Given the description of an element on the screen output the (x, y) to click on. 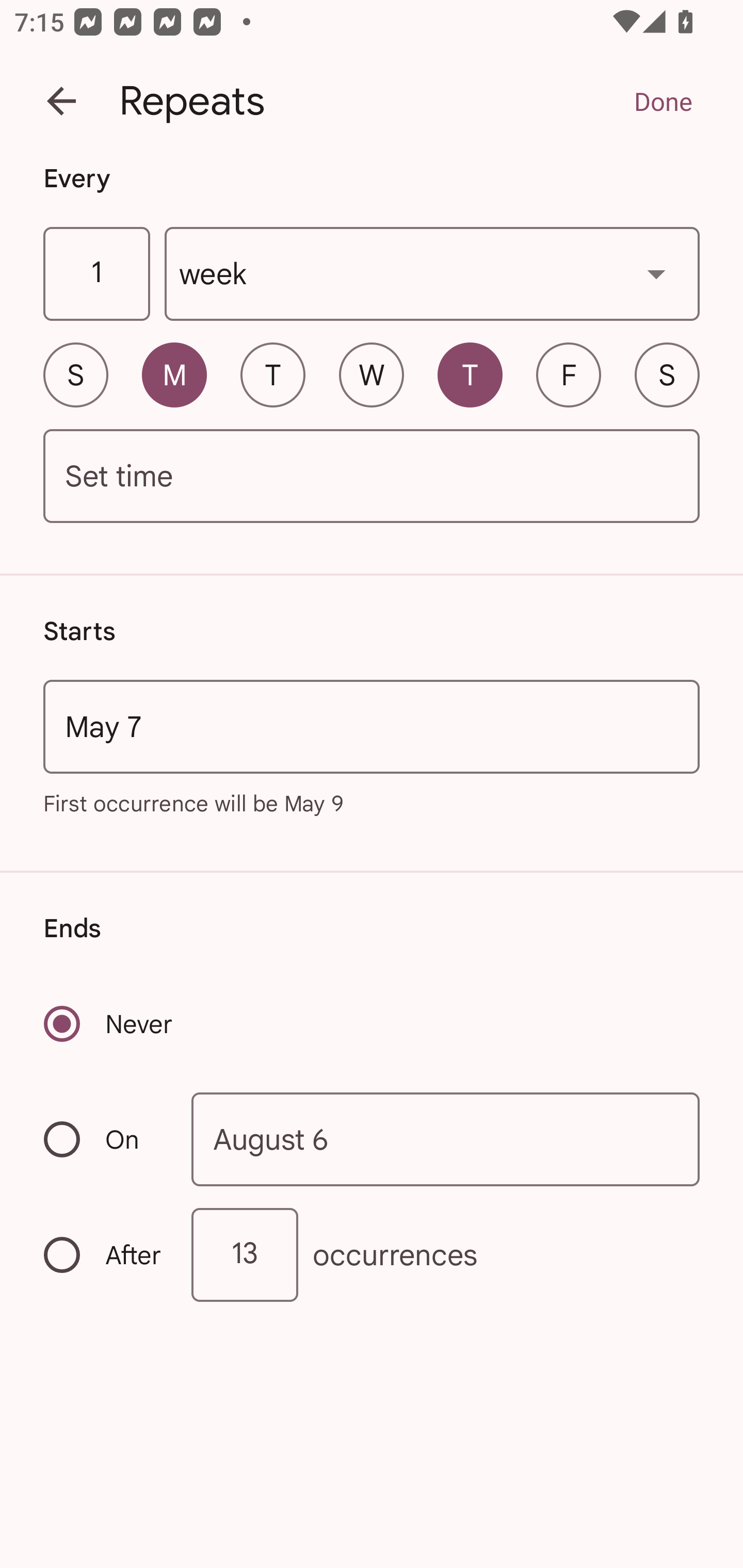
Back (61, 101)
Done (663, 101)
1 (96, 274)
week (431, 274)
Show dropdown menu (655, 273)
S Sunday (75, 374)
M Monday, selected (173, 374)
T Tuesday (272, 374)
W Wednesday (371, 374)
T Thursday, selected (469, 374)
F Friday (568, 374)
S Saturday (666, 374)
Set time (371, 476)
May 7 (371, 726)
Never Recurrence never ends (109, 1023)
August 6 (445, 1139)
On Recurrence ends on a specific date (104, 1138)
13 (244, 1254)
